Given the description of an element on the screen output the (x, y) to click on. 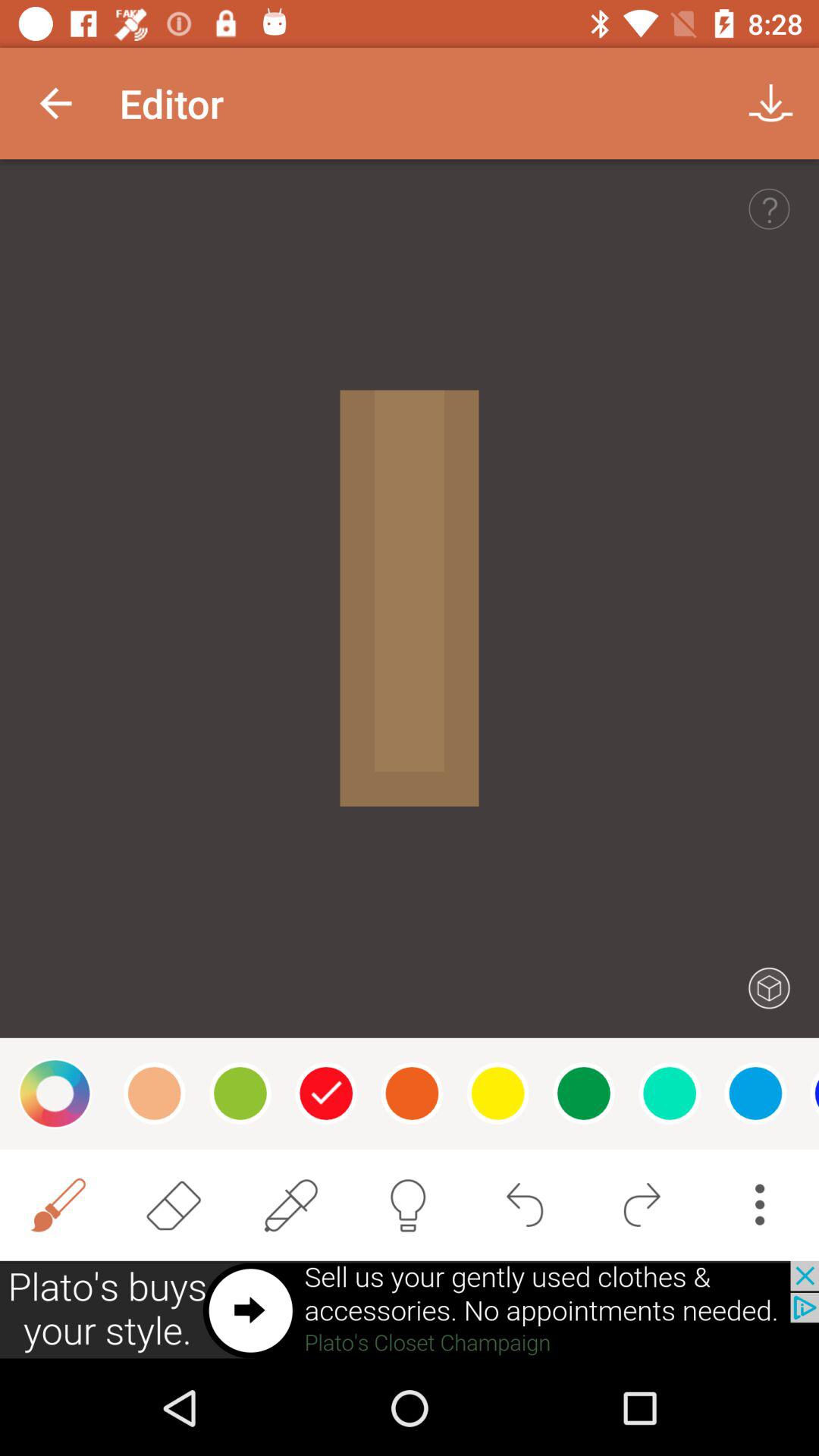
help icon (769, 208)
